Given the description of an element on the screen output the (x, y) to click on. 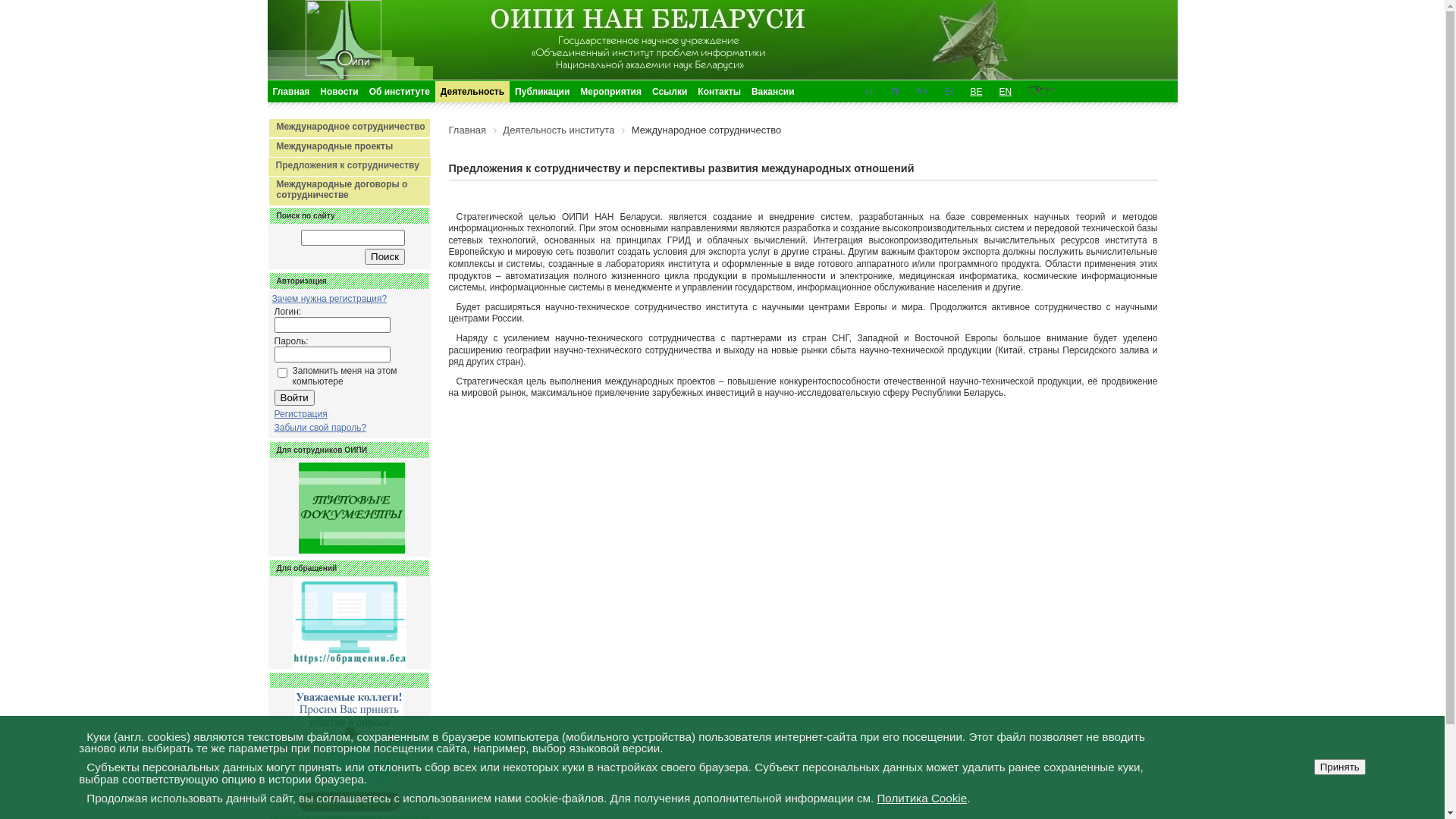
BE Element type: text (975, 90)
EN Element type: text (1004, 90)
uiip.bas-net.by Element type: hover (869, 90)
